Given the description of an element on the screen output the (x, y) to click on. 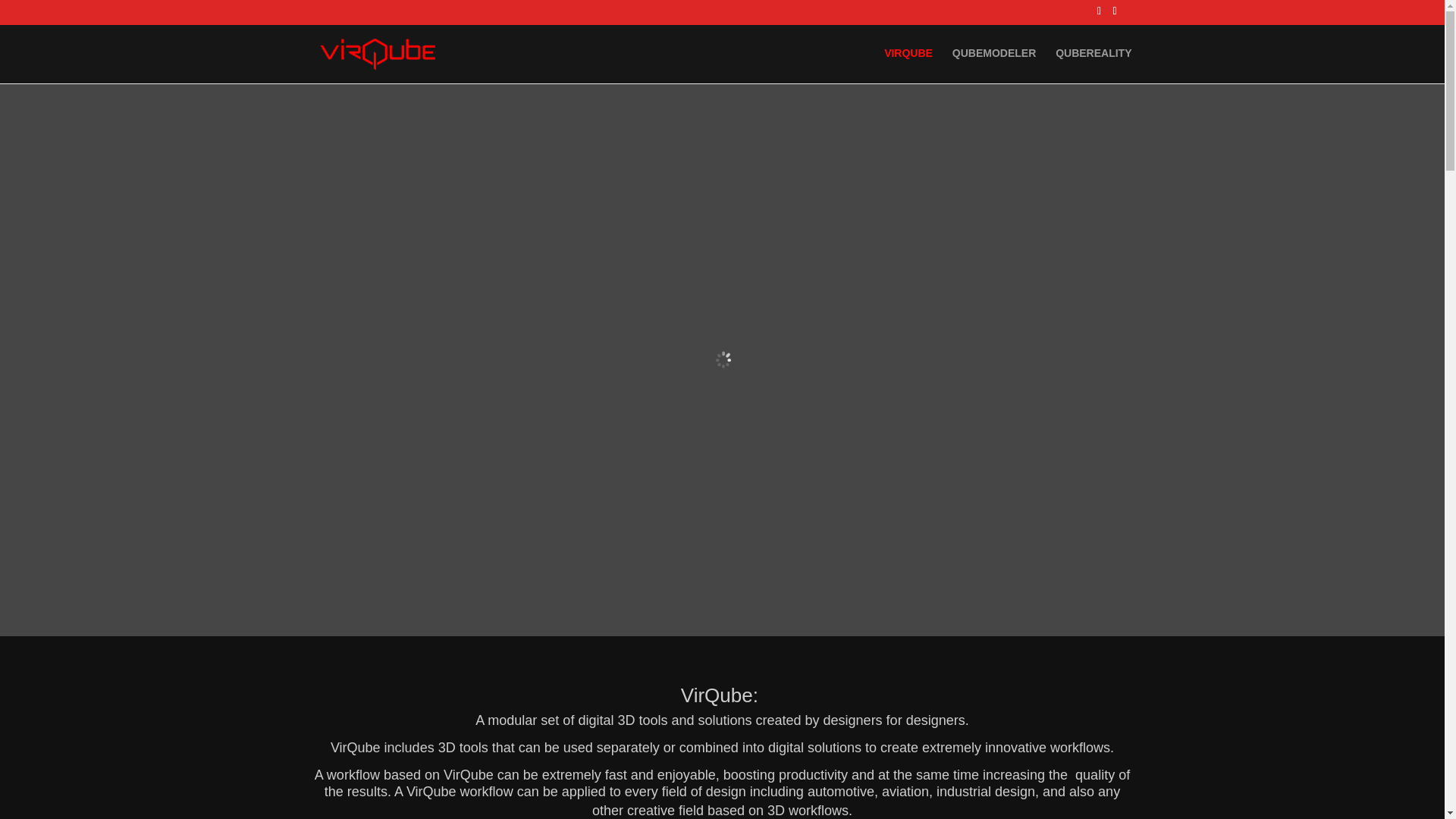
VIRQUBE (908, 65)
QUBEREALITY (1093, 65)
QUBEMODELER (993, 65)
